Given the description of an element on the screen output the (x, y) to click on. 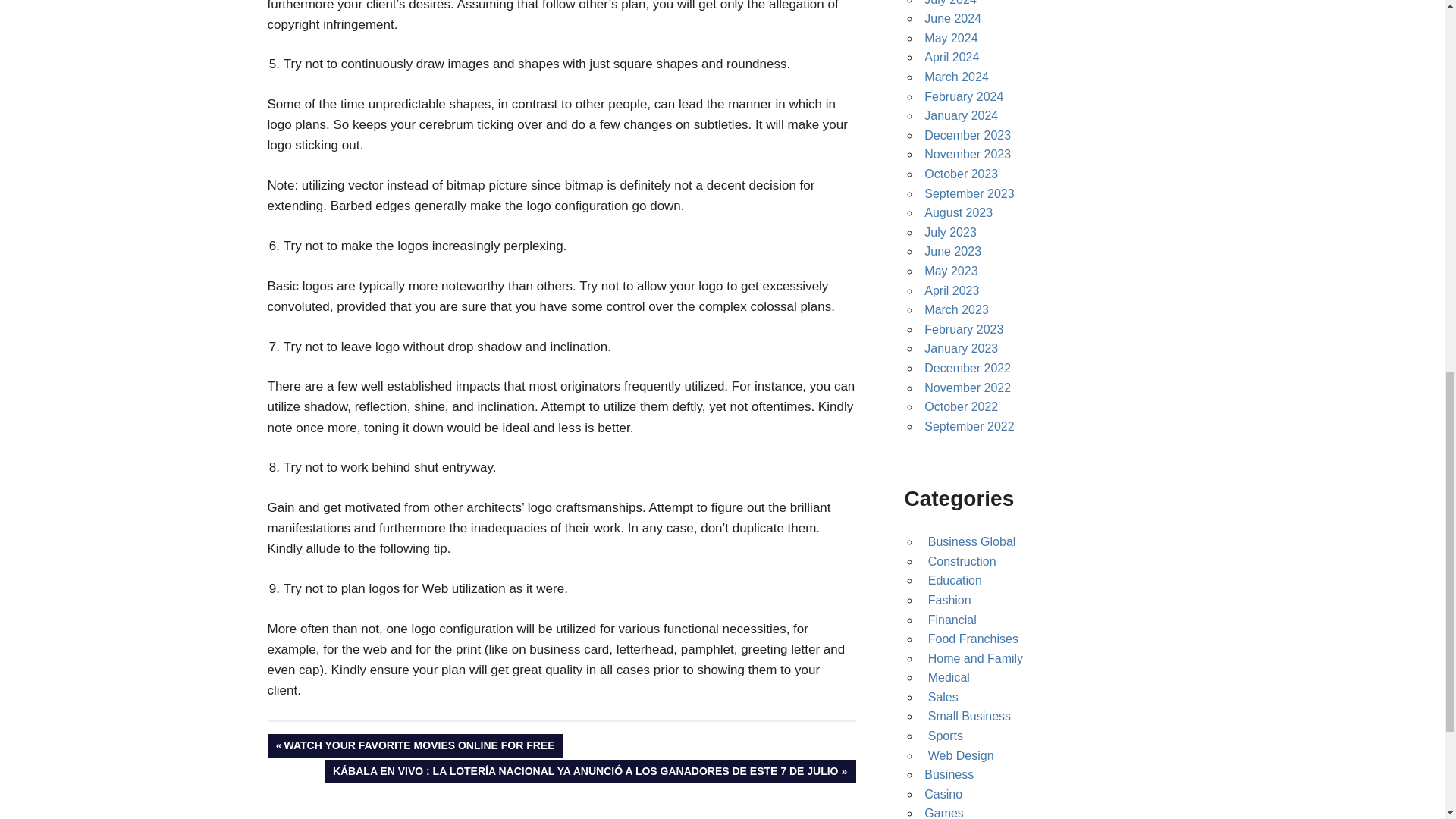
June 2023 (952, 250)
January 2024 (960, 115)
February 2024 (963, 96)
August 2023 (958, 212)
April 2024 (951, 56)
May 2024 (950, 38)
September 2023 (968, 193)
May 2023 (950, 270)
July 2024 (950, 2)
June 2024 (952, 18)
